Given the description of an element on the screen output the (x, y) to click on. 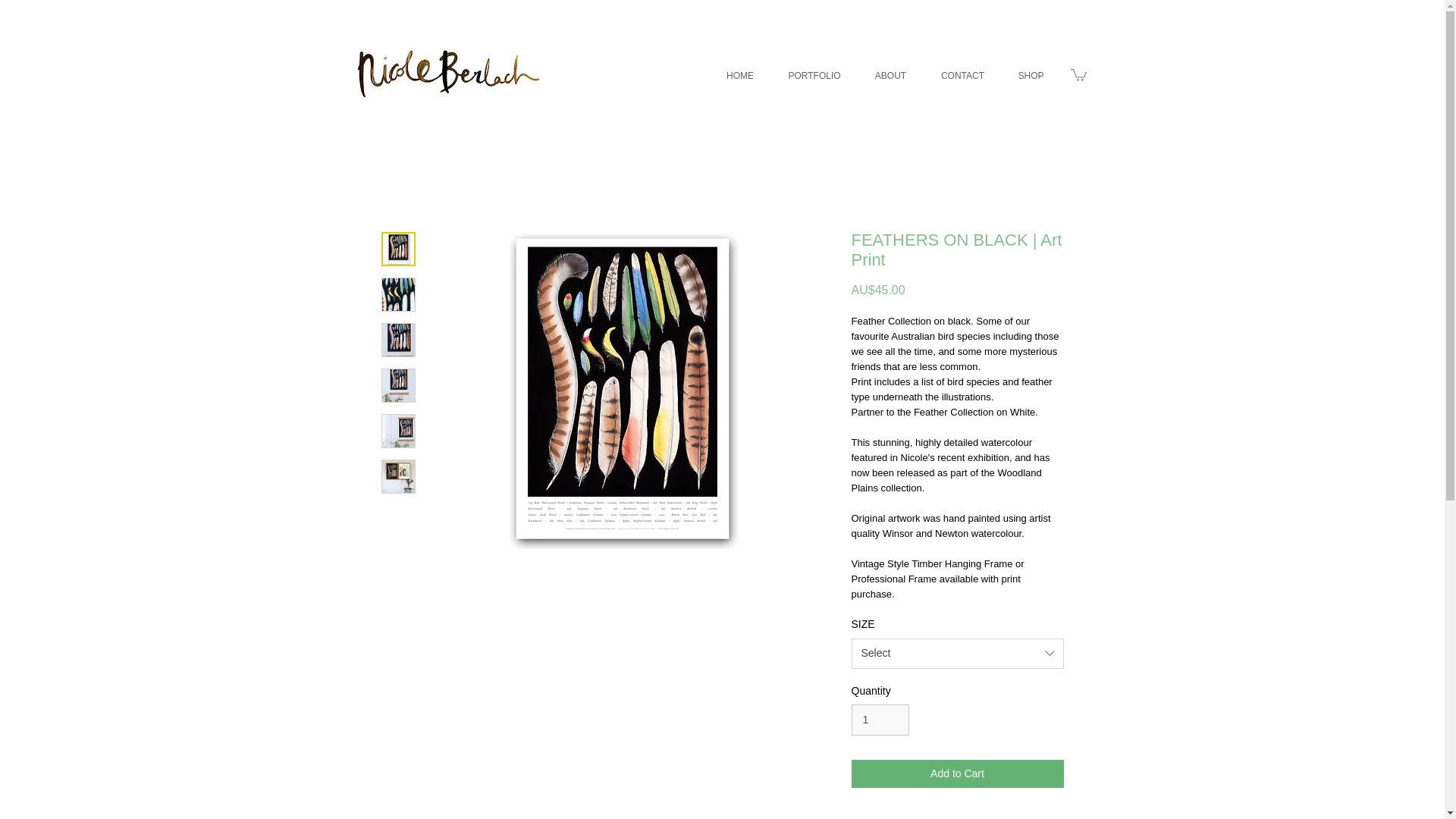
Select (956, 653)
NICOLE BERLACH (445, 74)
ABOUT (890, 75)
PORTFOLIO (814, 75)
HOME (739, 75)
1 (879, 719)
Add to Cart (956, 773)
CONTACT (962, 75)
SHOP (1030, 75)
